Given the description of an element on the screen output the (x, y) to click on. 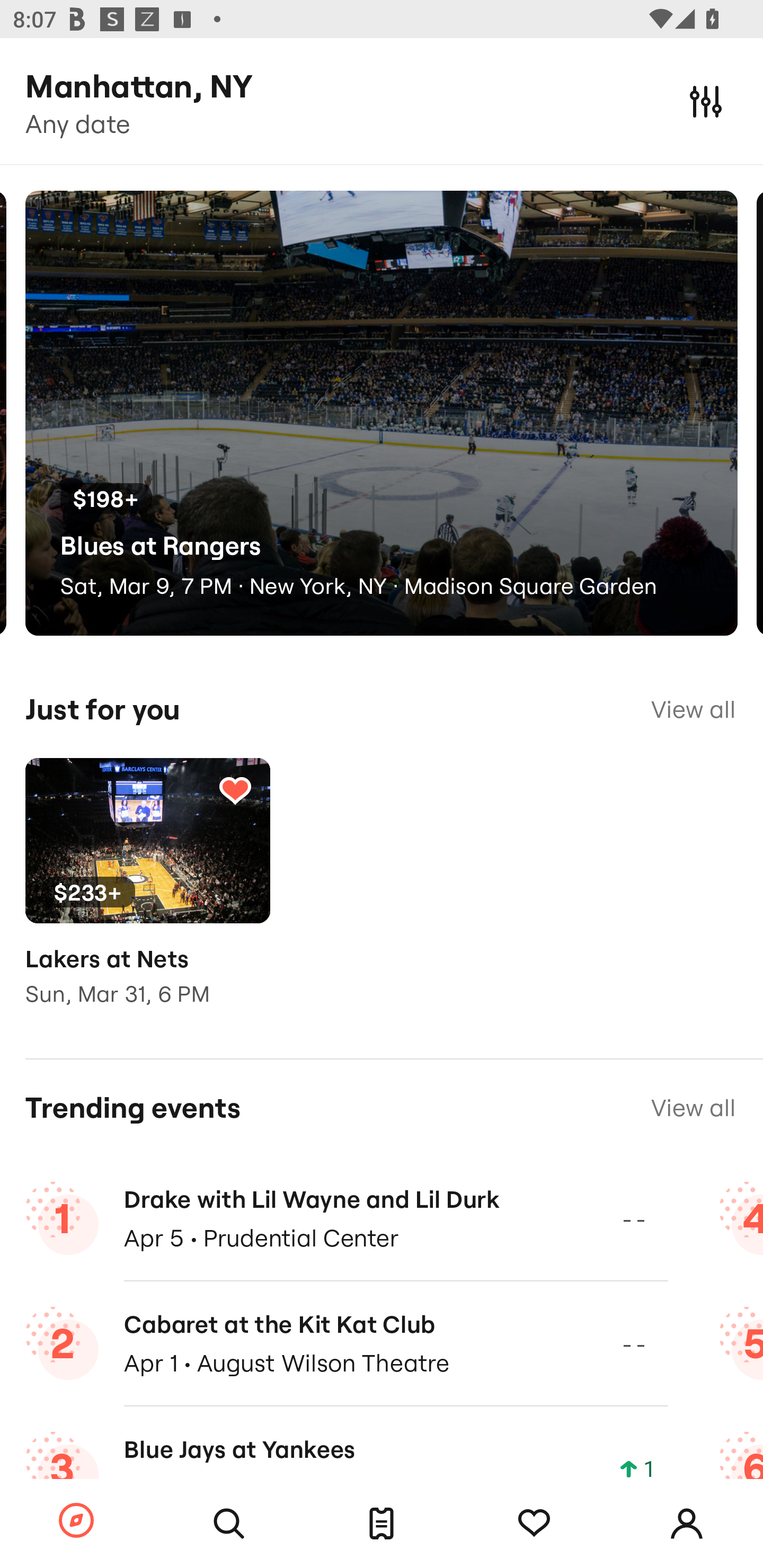
Filters (705, 100)
View all (693, 709)
Tracking $233+ Lakers at Nets Sun, Mar 31, 6 PM (147, 895)
Tracking (234, 790)
View all (693, 1108)
Browse (76, 1521)
Search (228, 1523)
Tickets (381, 1523)
Tracking (533, 1523)
Account (686, 1523)
